Given the description of an element on the screen output the (x, y) to click on. 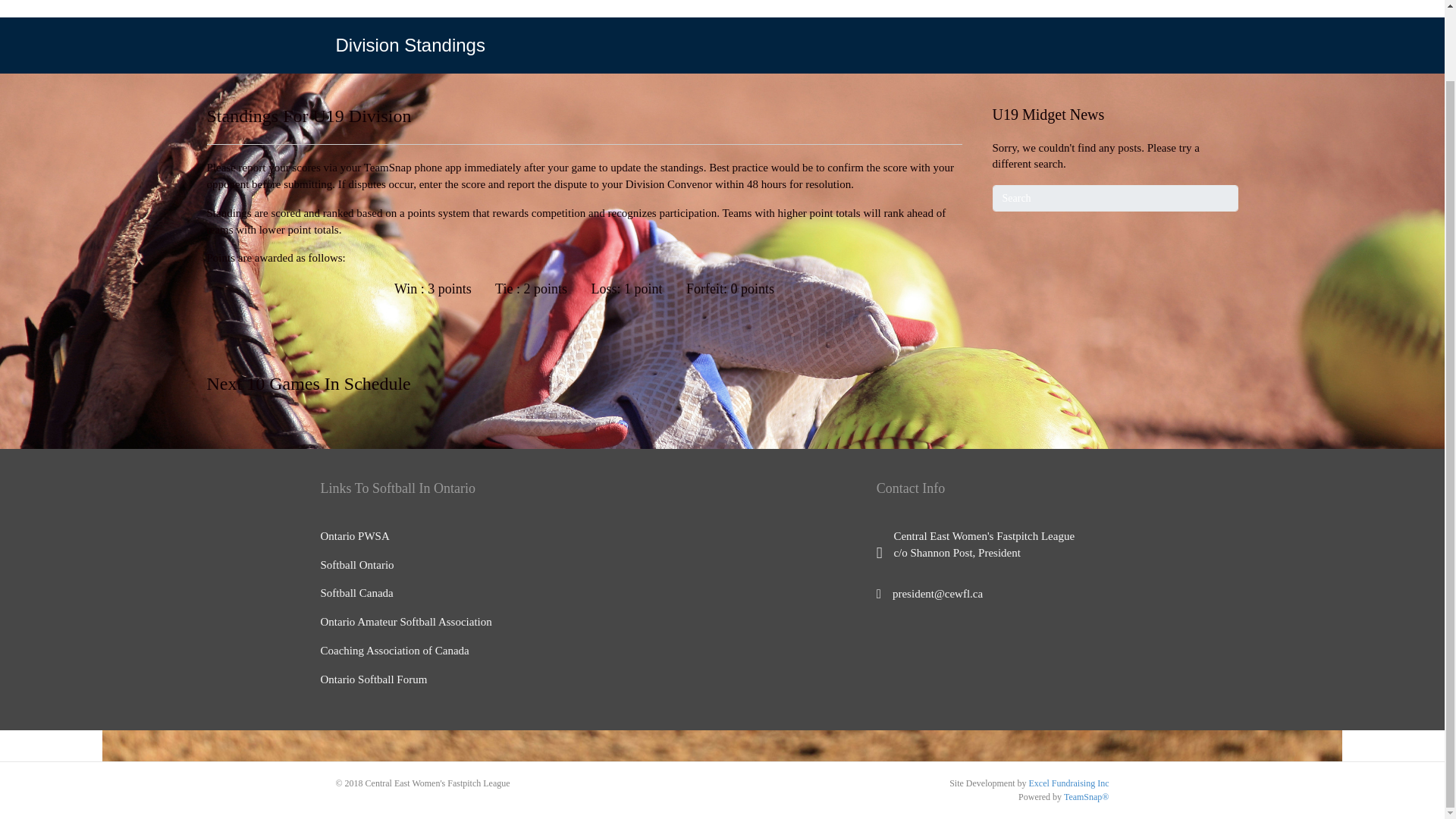
Search (1114, 198)
Type and press Enter to search. (1114, 198)
Search (1114, 198)
